Given the description of an element on the screen output the (x, y) to click on. 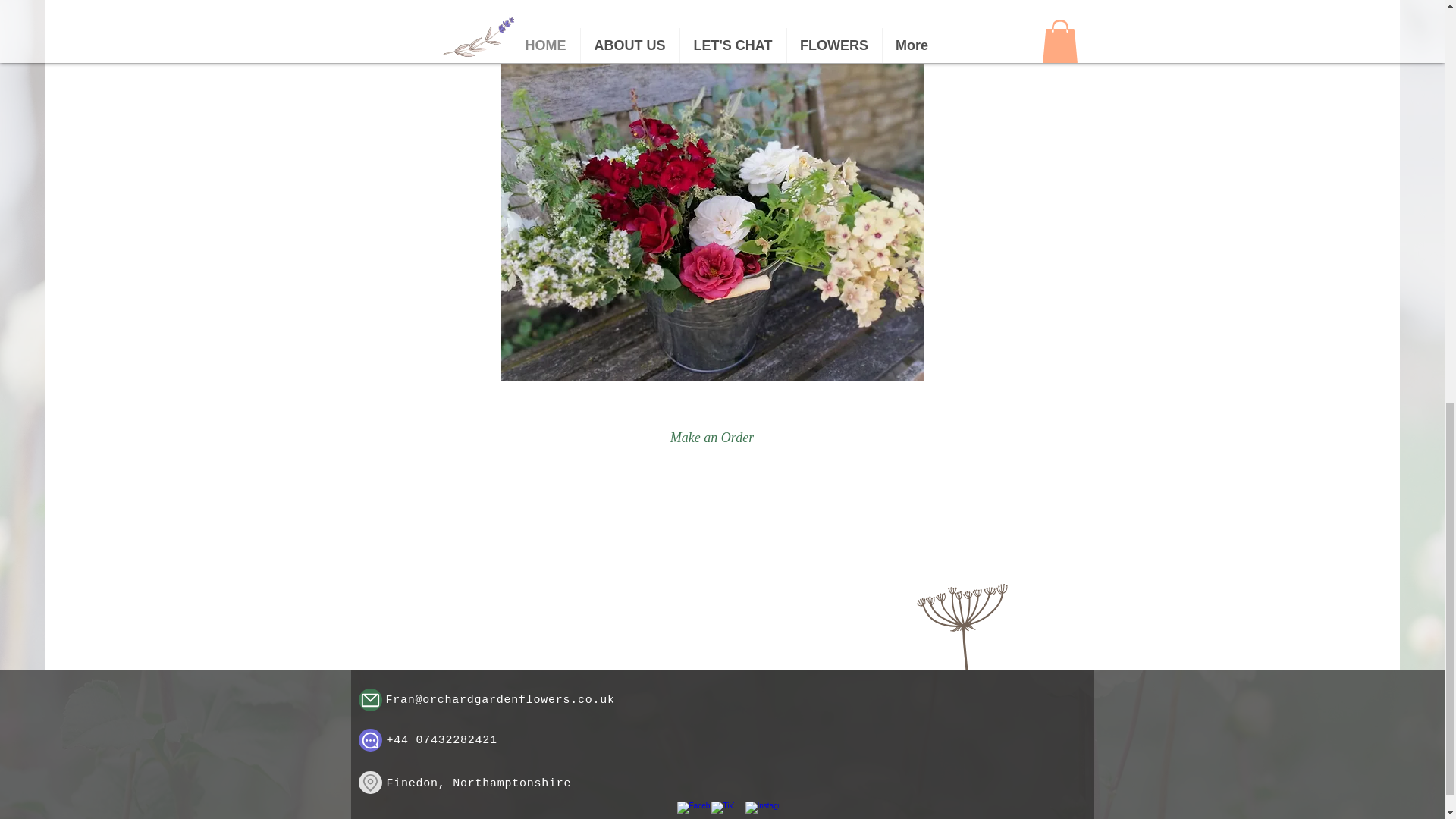
Make an Order (711, 437)
